Given the description of an element on the screen output the (x, y) to click on. 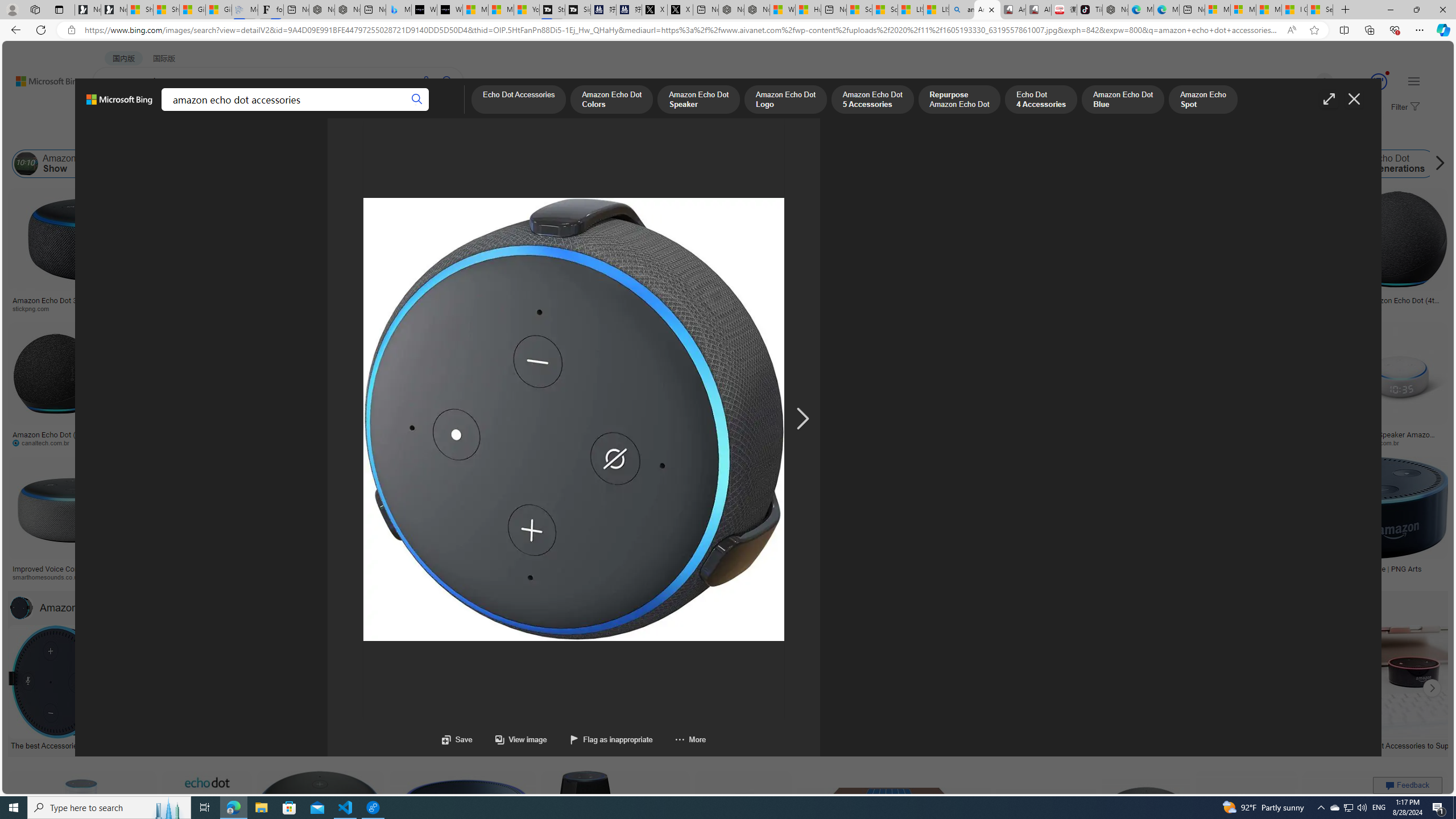
skroutz.gr (871, 576)
Newsletter Sign Up (114, 9)
Amazonecho Dot With Alexa (Gen 4)pnghq.comSave (1205, 521)
Microsoft Bing, Back to Bing search (118, 104)
Amazon Echo Dot 3rd (371, 163)
pngkey.com (875, 442)
Alexa Dot Transparent Image | PNG Arts (1356, 568)
winmaec.com (1128, 442)
DICT (357, 111)
